Given the description of an element on the screen output the (x, y) to click on. 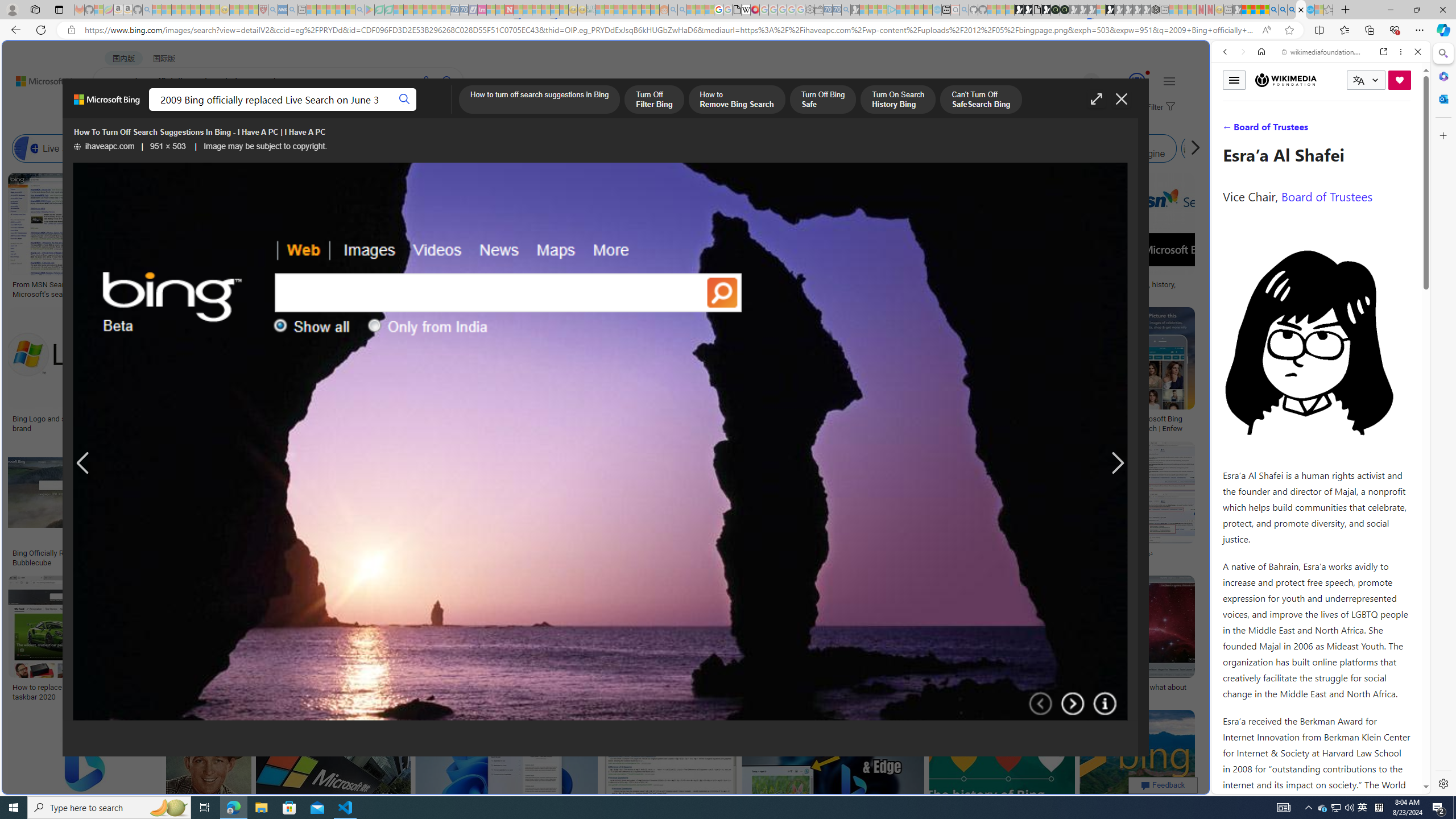
MSN - Sleeping (1236, 9)
wikimediafoundation.org (1323, 51)
Microsoft Live Logo (419, 284)
Tabs you've opened (885, 151)
